Given the description of an element on the screen output the (x, y) to click on. 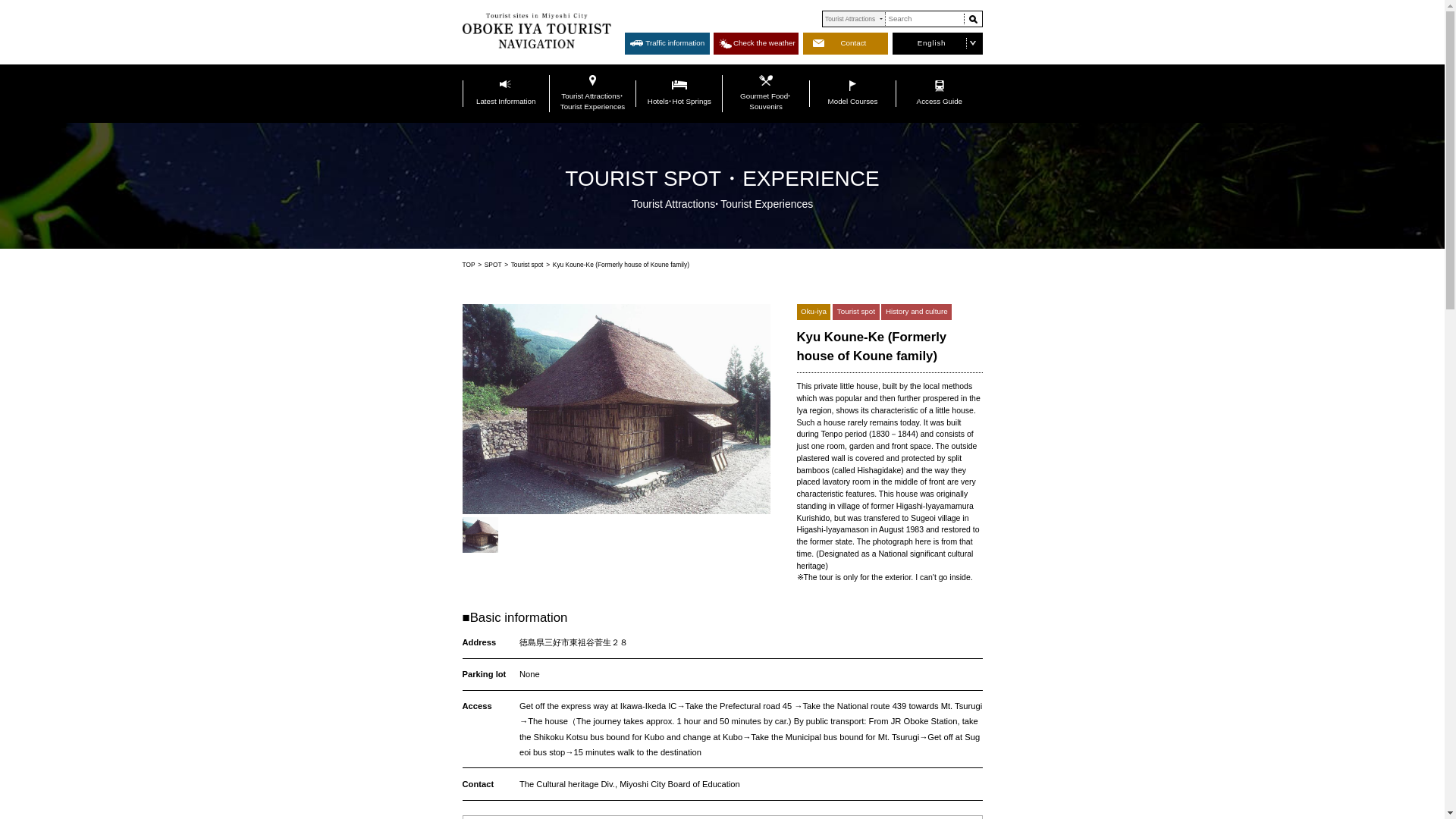
search (1389, 26)
Check the weather (1080, 61)
Tourist spot (752, 378)
search (1389, 26)
SPOT (704, 378)
Traffic information (952, 61)
Contact (1207, 61)
TOP (669, 378)
Access Guide (1341, 133)
